Given the description of an element on the screen output the (x, y) to click on. 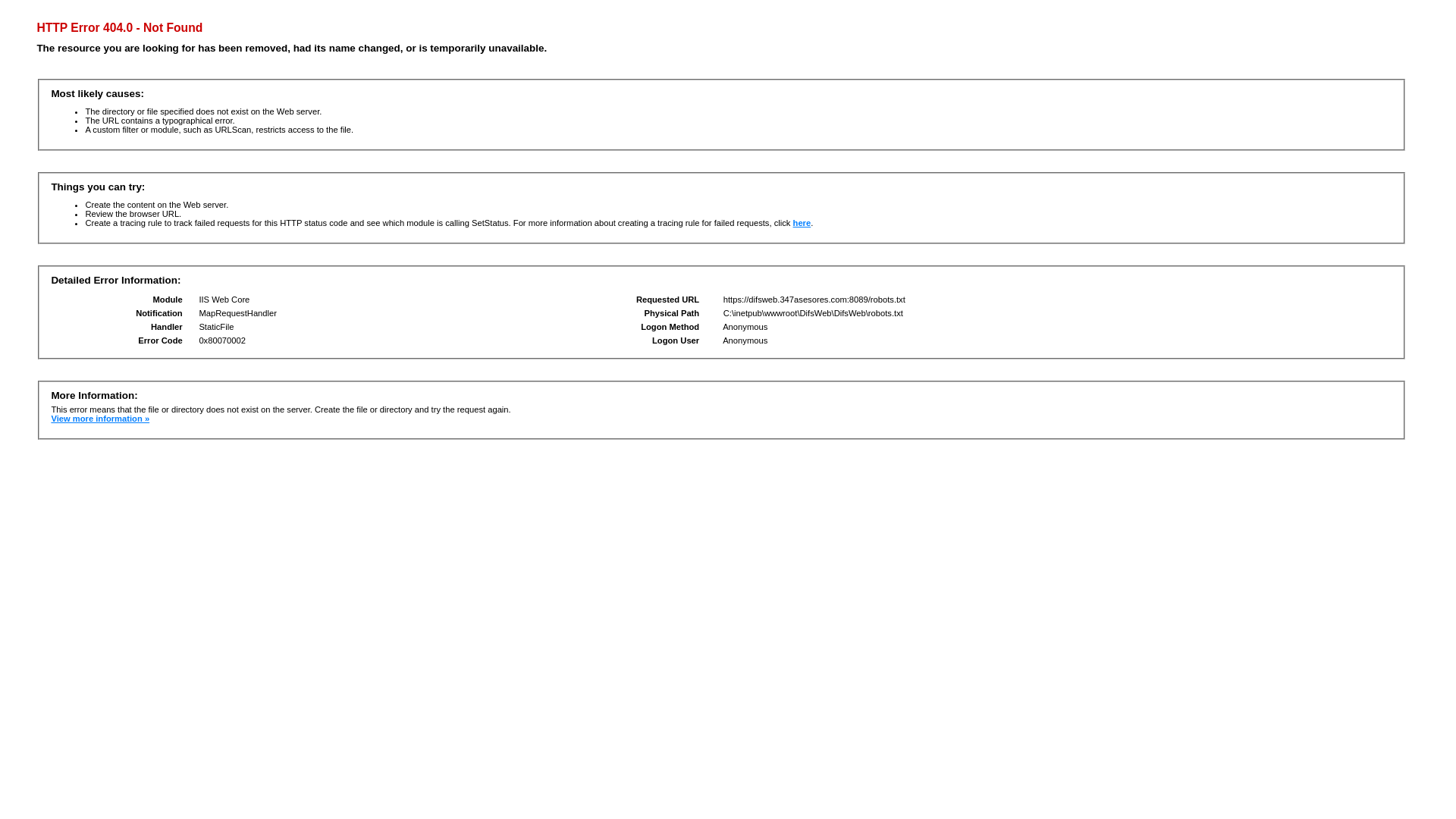
here Element type: text (802, 222)
